Given the description of an element on the screen output the (x, y) to click on. 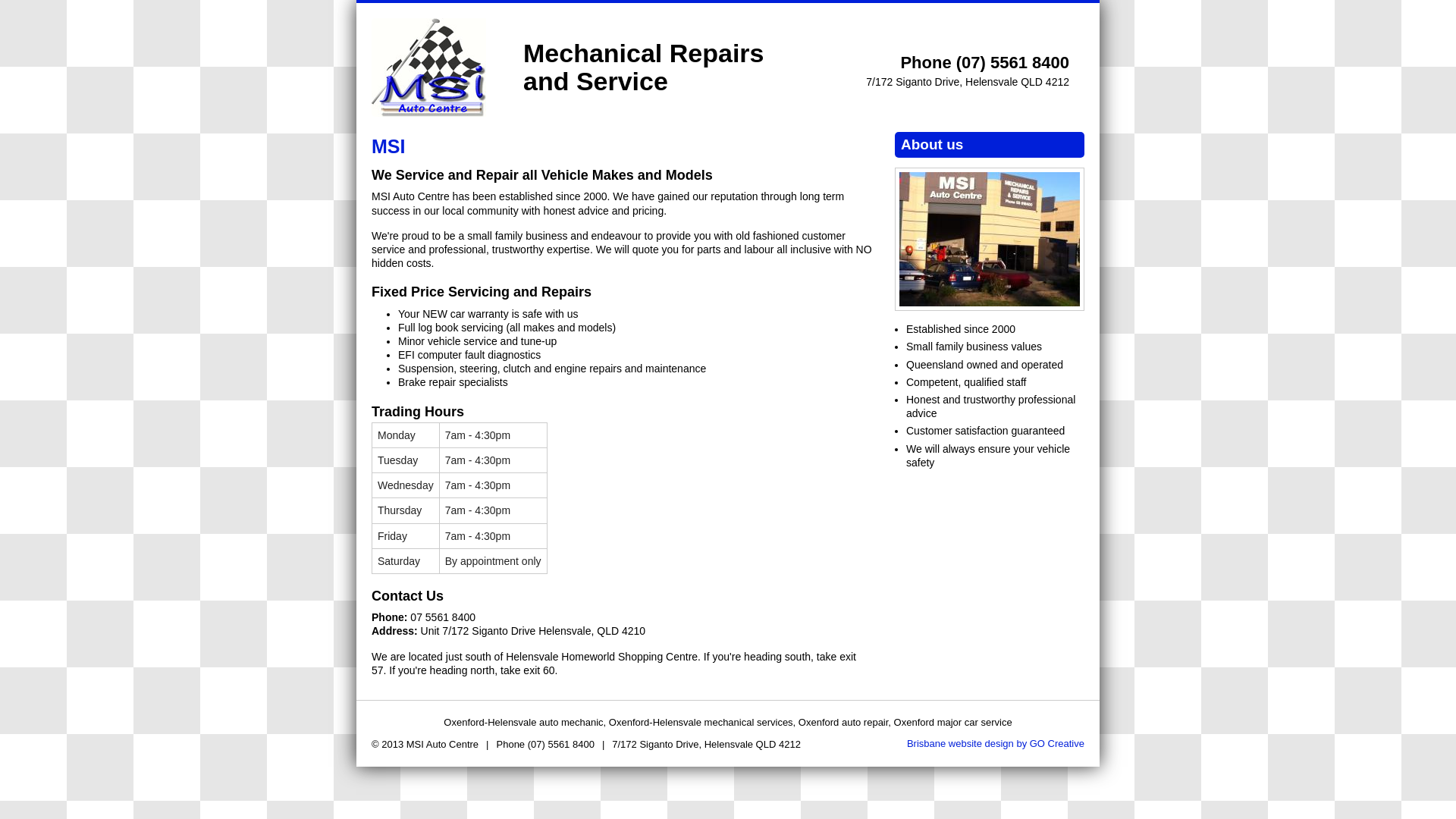
MSI Element type: text (387, 145)
Brisbane website design by GO Creative Element type: text (995, 743)
About us Element type: hover (989, 238)
MSI Auto Centre Element type: text (428, 67)
